Given the description of an element on the screen output the (x, y) to click on. 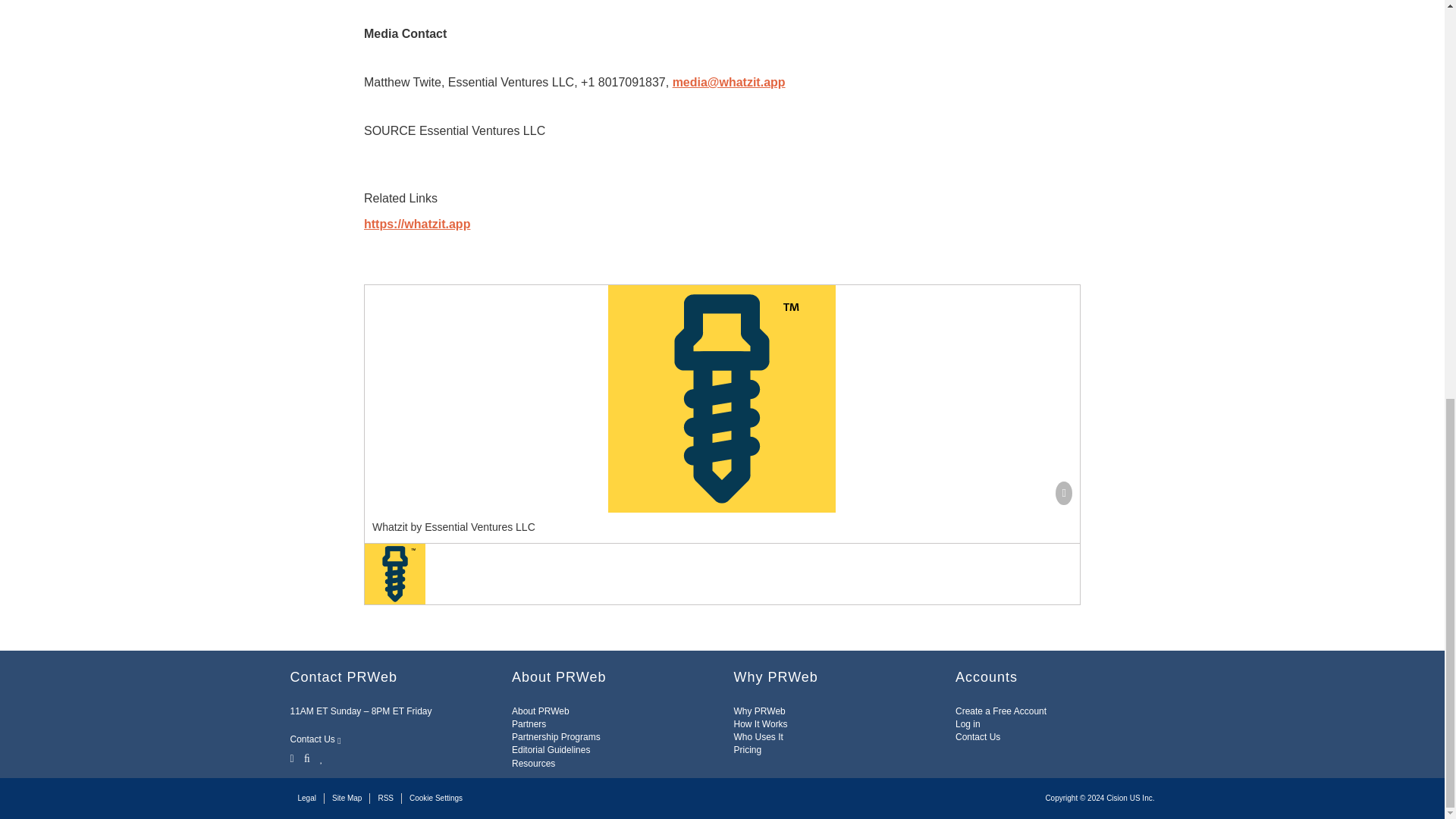
Partners (529, 724)
Why PRWeb (759, 710)
Resources (533, 763)
Facebook (306, 757)
How It Works (760, 724)
Partnership Programs (555, 737)
Editorial Guidelines (550, 749)
About PRWeb (540, 710)
